Given the description of an element on the screen output the (x, y) to click on. 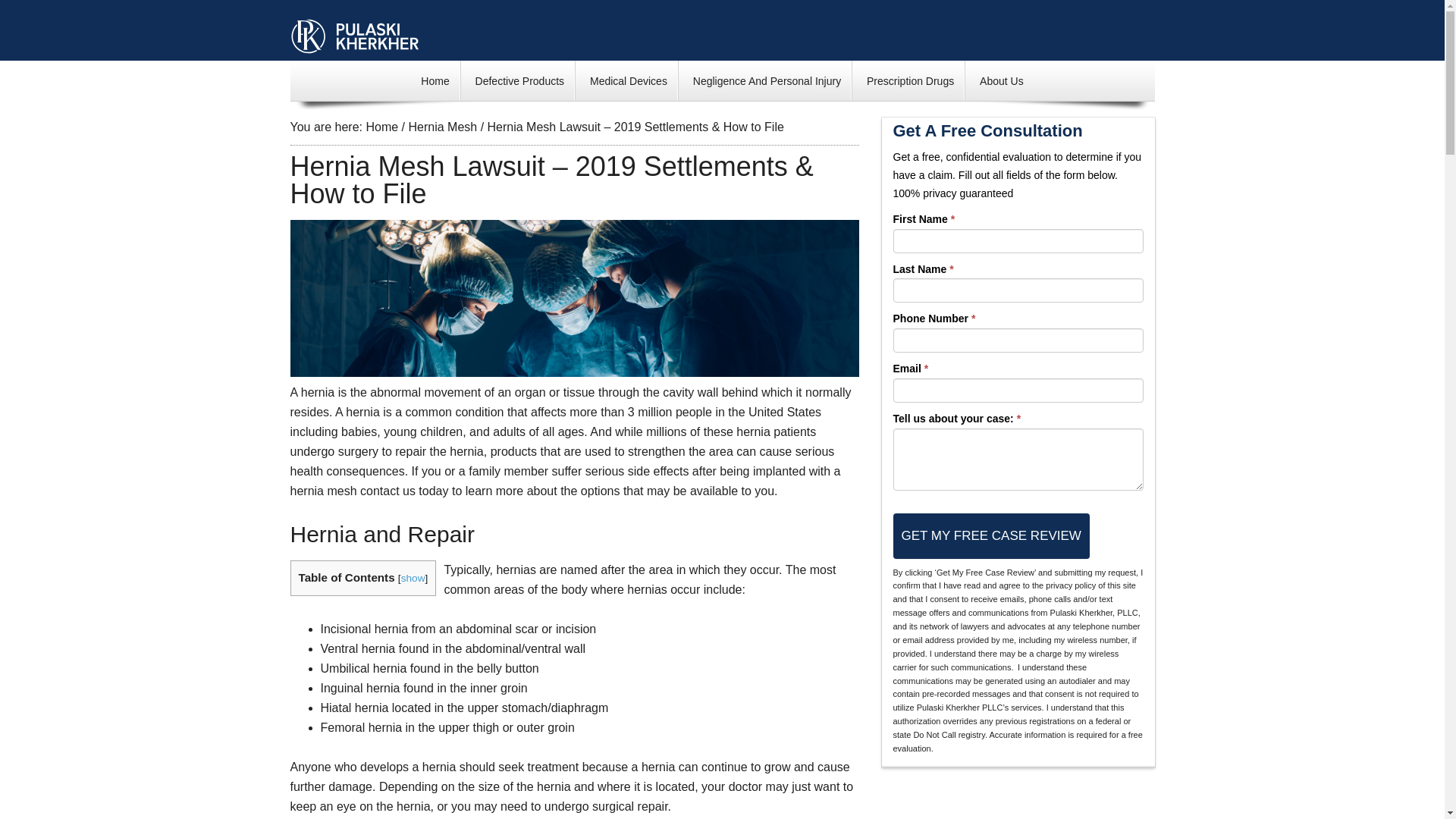
Get My Free Case Review (991, 535)
Defective Products (520, 80)
Medical Devices (628, 80)
Negligence And Personal Injury (766, 80)
Home (434, 80)
Prescription Drugs (910, 80)
